Given the description of an element on the screen output the (x, y) to click on. 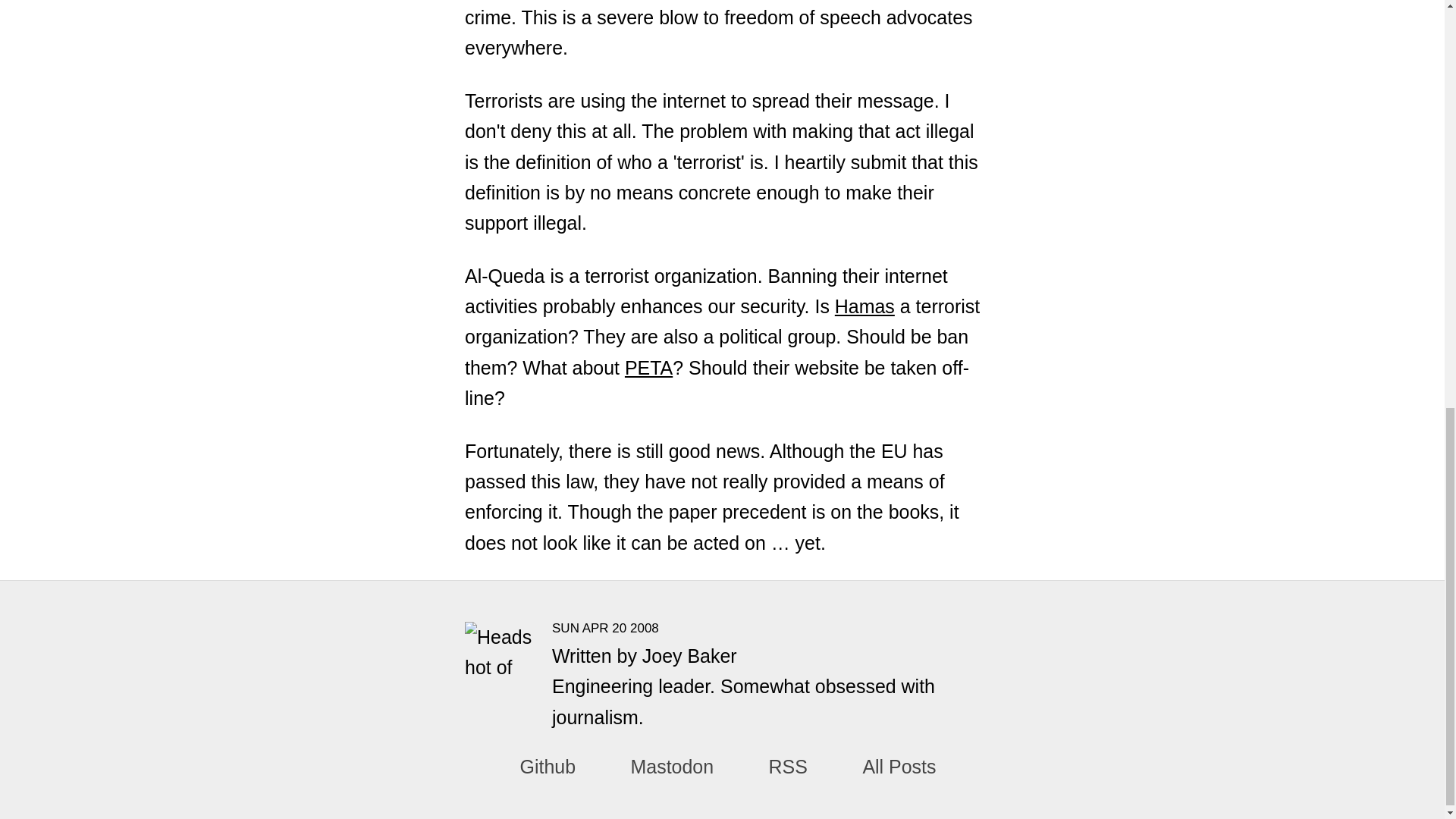
RSS (788, 766)
Hamas (864, 305)
Mastodon (672, 766)
All Posts (898, 766)
Github (547, 766)
PETA (648, 367)
